Given the description of an element on the screen output the (x, y) to click on. 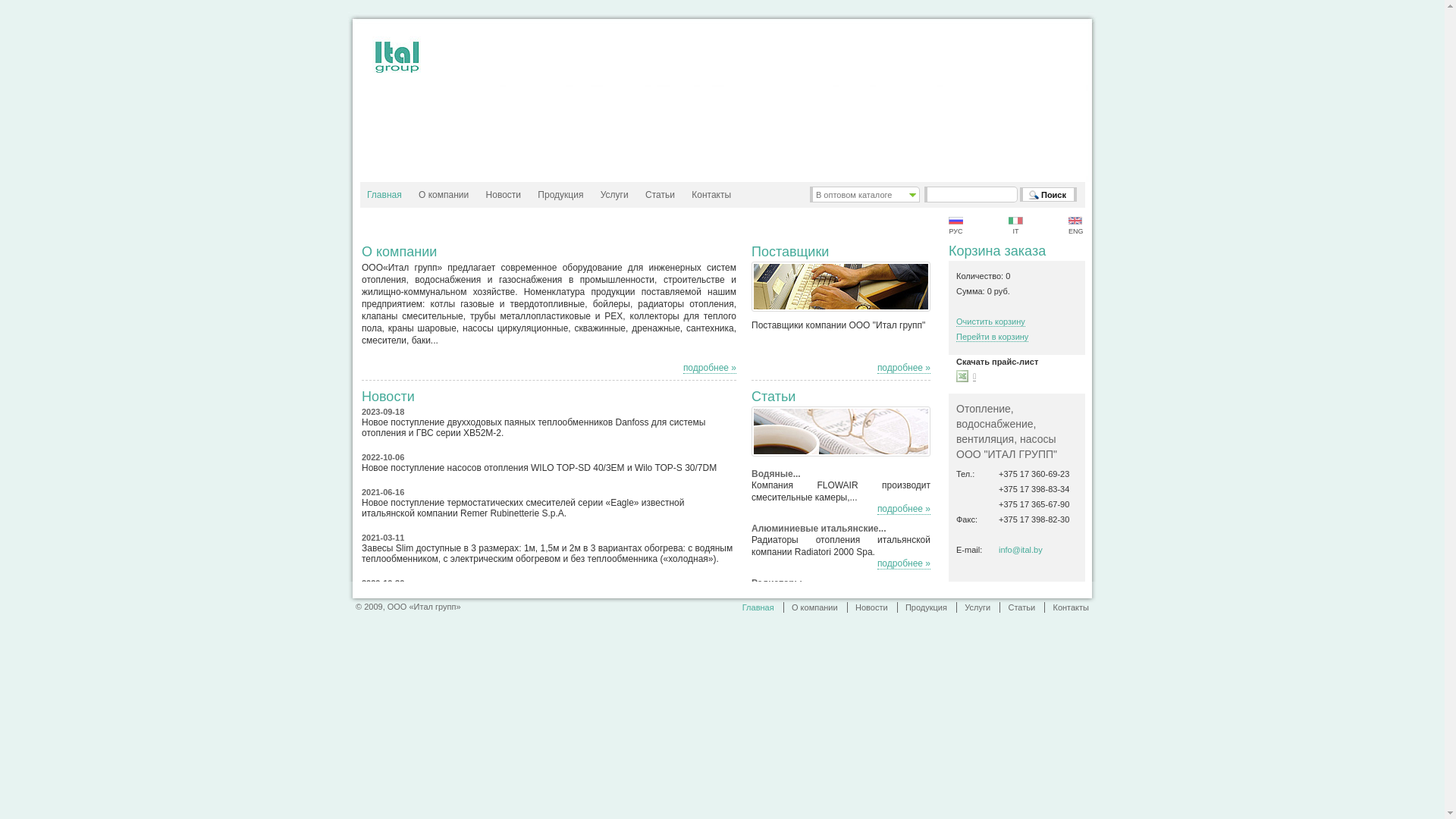
info@ital.by Element type: text (1020, 549)
ENG Element type: text (1075, 226)
IT Element type: text (1015, 226)
